Given the description of an element on the screen output the (x, y) to click on. 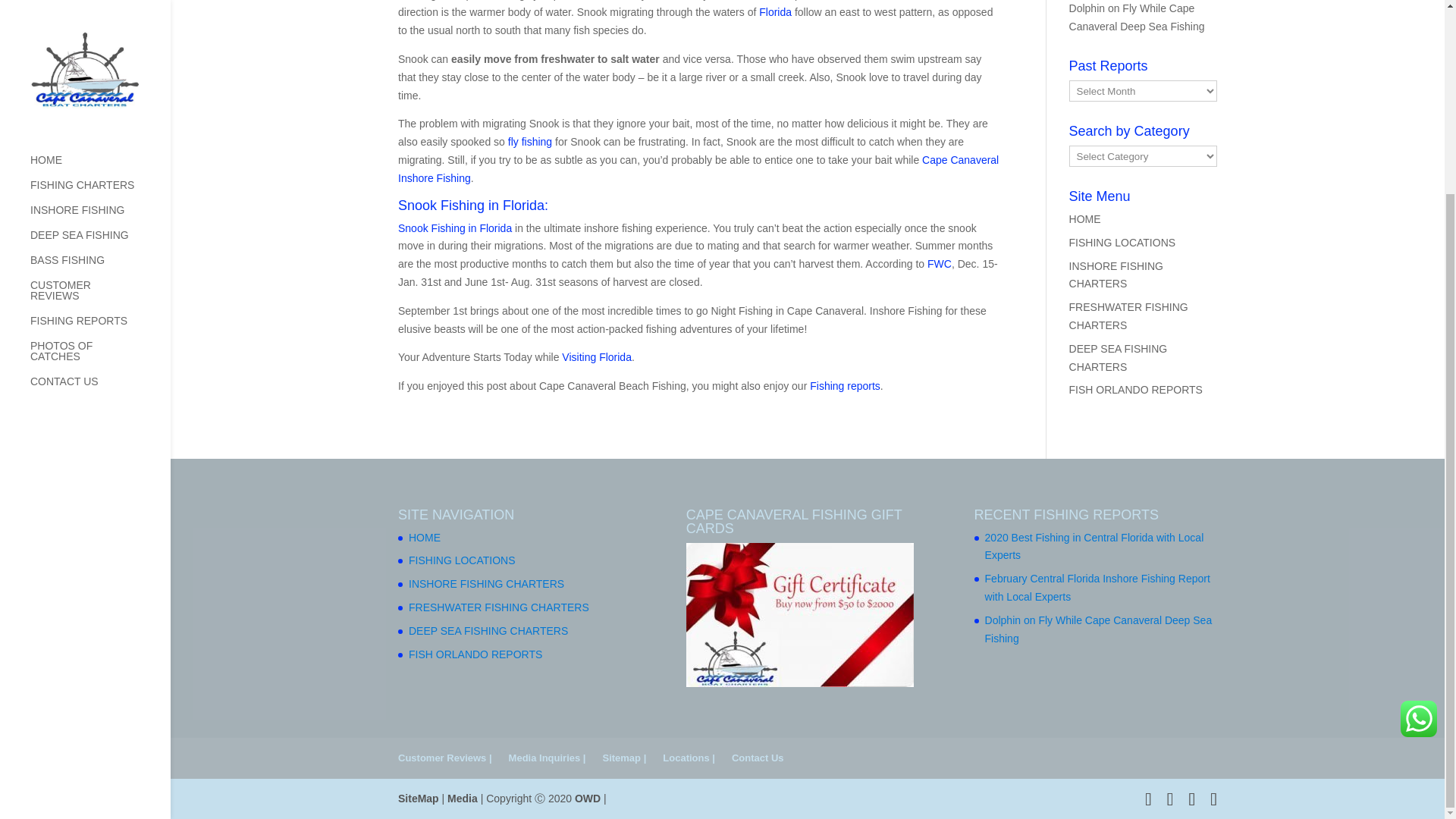
CONTACT US (100, 145)
BASS FISHING (100, 23)
Cape Canaveral Inshore Fishing (697, 168)
DEEP SEA FISHING (100, 5)
Snook Fishing in Florida (454, 227)
FISHING REPORTS (100, 84)
PHOTOS OF CATCHES (100, 114)
CUSTOMER REVIEWS (100, 54)
Visiting Florida (596, 357)
fly fishing (528, 141)
FWC (939, 263)
Florida (775, 11)
